Given the description of an element on the screen output the (x, y) to click on. 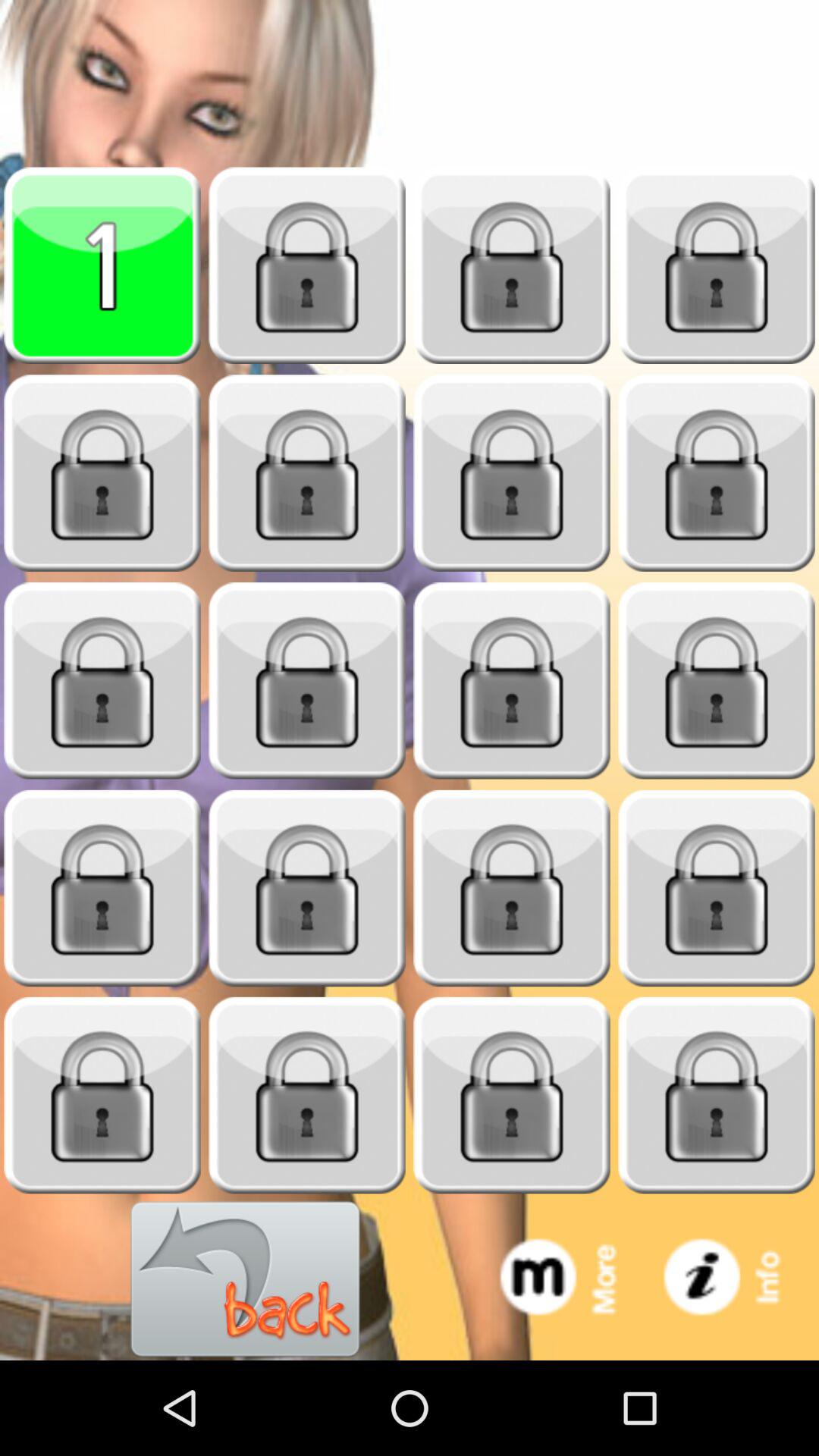
blok (716, 680)
